Given the description of an element on the screen output the (x, y) to click on. 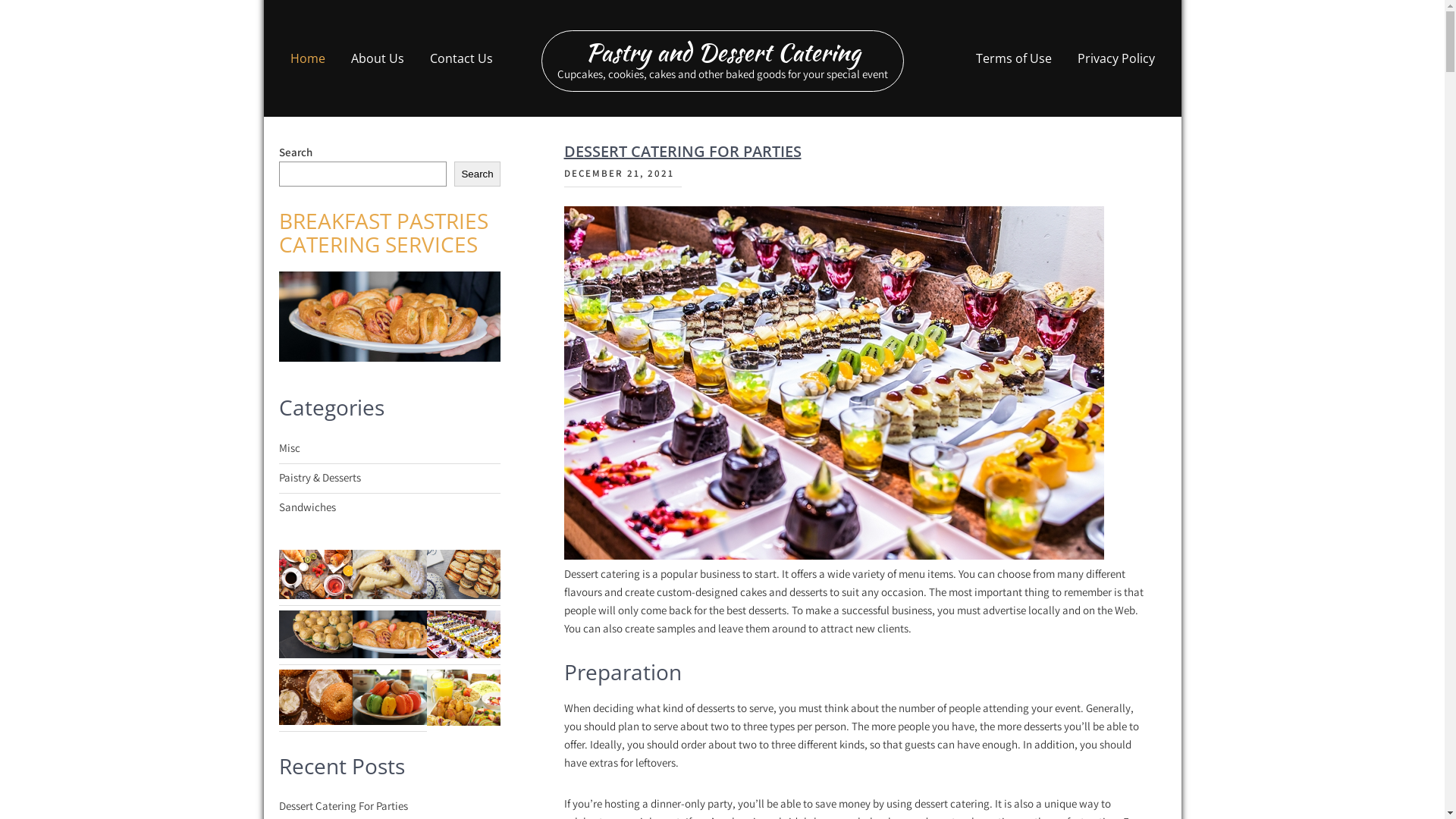
Terms of Use Element type: text (1013, 58)
Home Element type: text (307, 58)
Search Element type: text (477, 173)
Sandwiches Element type: text (307, 507)
About Us Element type: text (377, 58)
DESSERT CATERING FOR PARTIES Element type: text (682, 151)
Misc Element type: text (289, 448)
BREAKFAST PASTRIES CATERING SERVICES Element type: text (383, 232)
Dessert Catering For Parties Element type: text (343, 806)
Paistry & Desserts Element type: text (319, 477)
Contact Us Element type: text (461, 58)
Privacy Policy Element type: text (1116, 58)
Pastry and Dessert Catering Element type: text (722, 51)
